Given the description of an element on the screen output the (x, y) to click on. 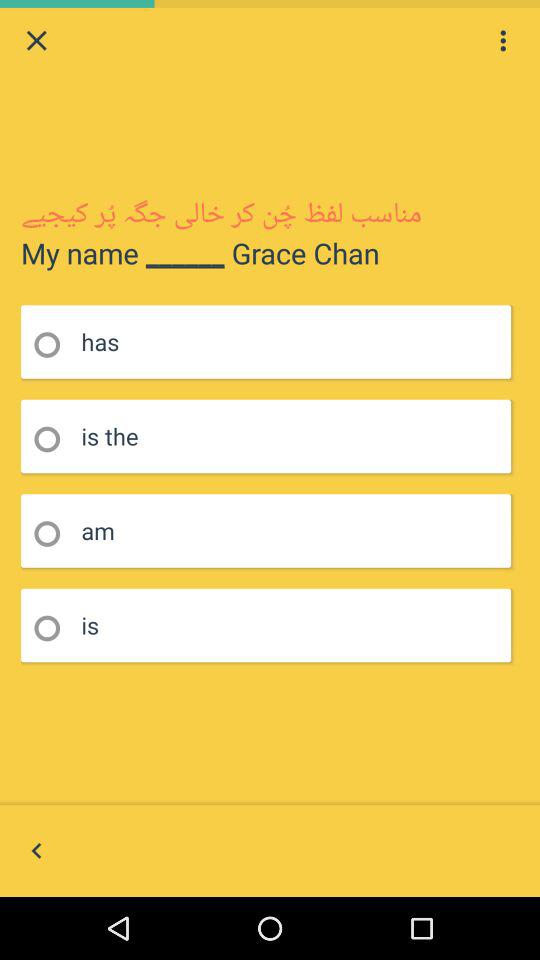
select the answer (53, 439)
